Given the description of an element on the screen output the (x, y) to click on. 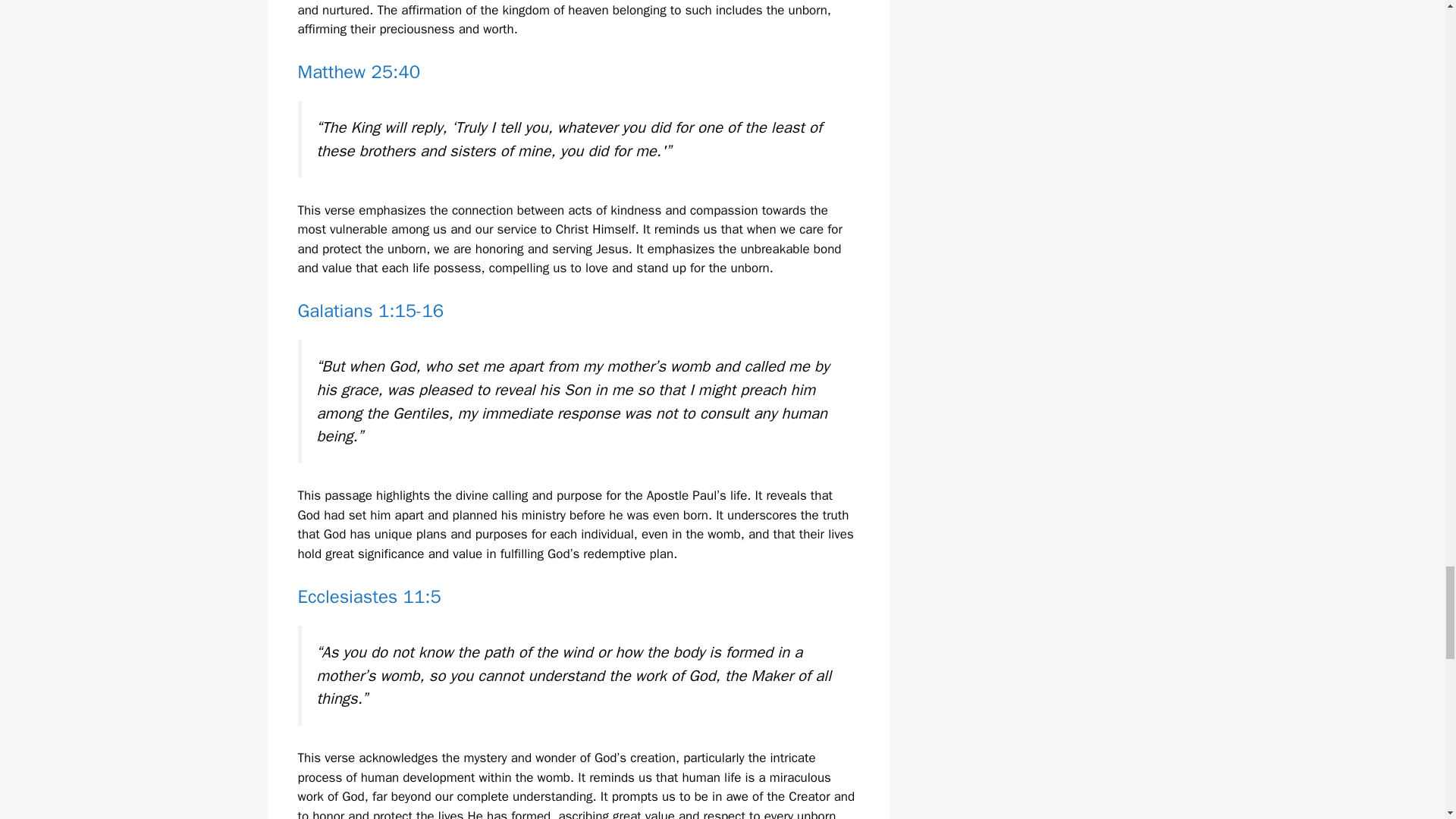
Ecclesiastes 11:5 (369, 596)
Matthew 25:40 (358, 71)
Galatians 1:15-16 (370, 310)
